Given the description of an element on the screen output the (x, y) to click on. 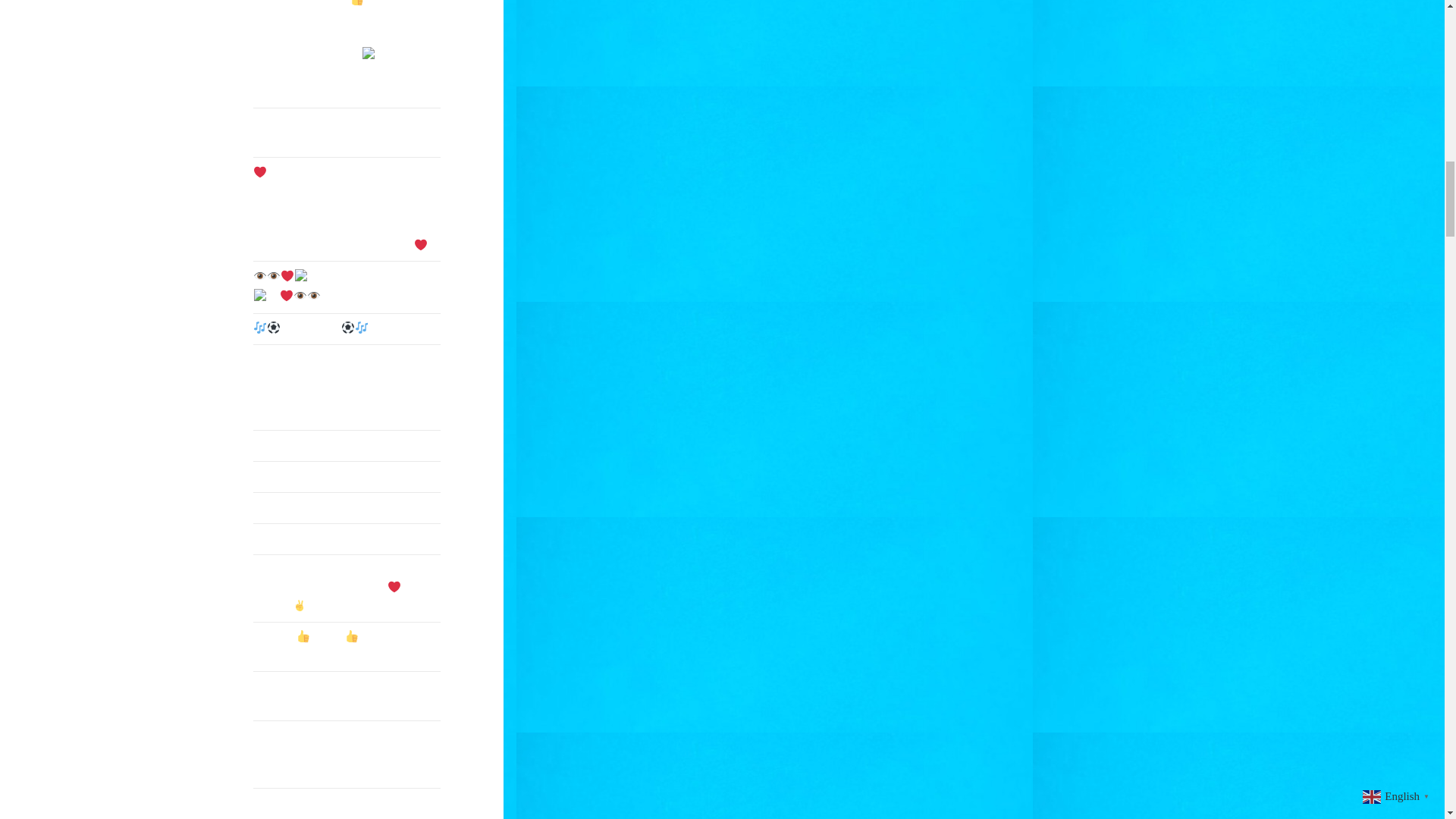
HOME SCHOOLING (347, 286)
2bagS (347, 445)
Football CV (347, 328)
h2O Cafe. Franchise. MINE. My own Income. (347, 132)
22 Fun Activities. (347, 803)
Van Franchise, setup costs. Draft. (347, 539)
Four Franchise competitions. (347, 476)
New-Painting Colour time Activity. (347, 508)
